Given the description of an element on the screen output the (x, y) to click on. 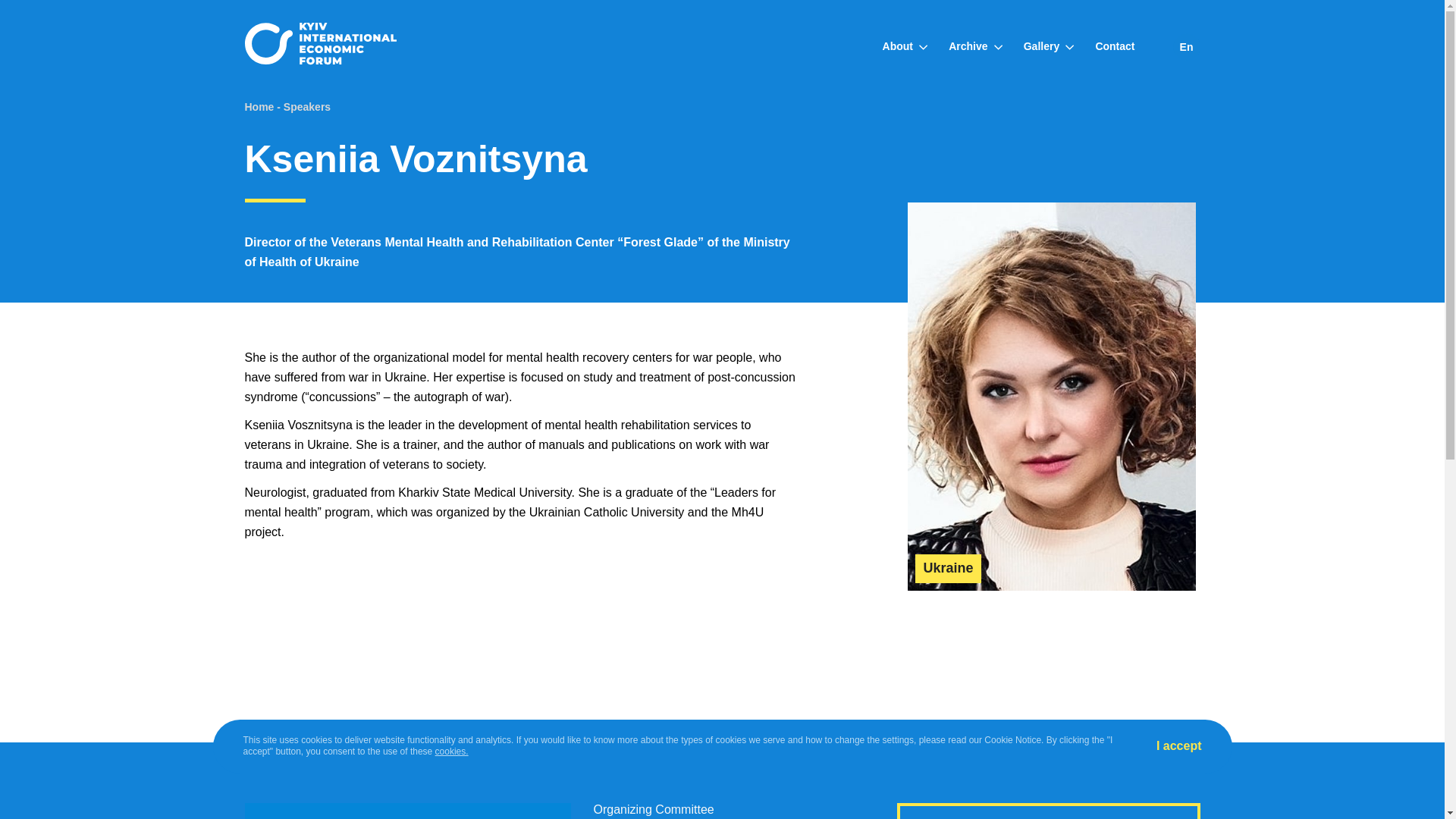
Speakers (306, 106)
Contact (1114, 46)
Gallery (1041, 46)
Archive (968, 46)
About (897, 46)
Home (258, 106)
